Given the description of an element on the screen output the (x, y) to click on. 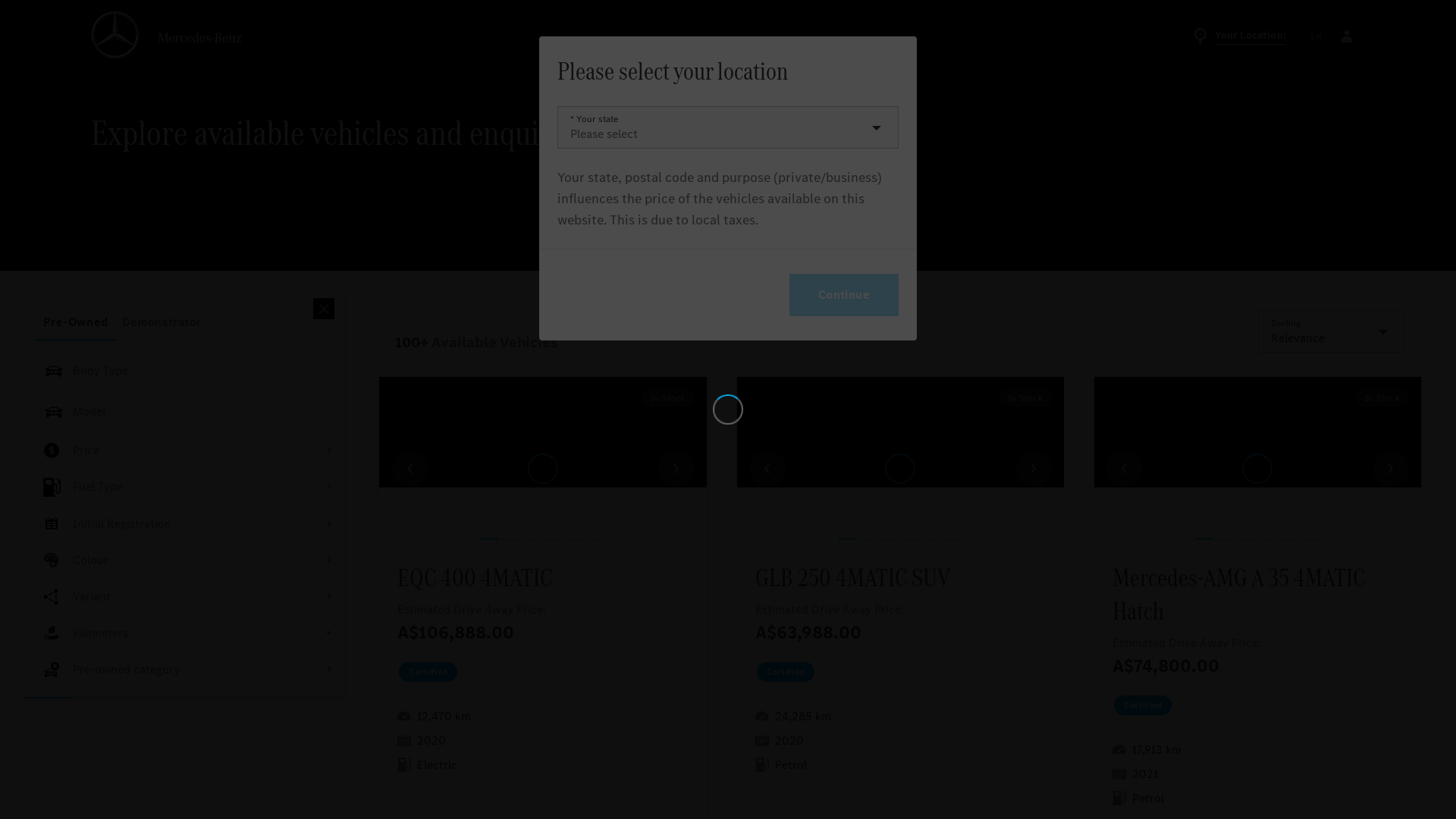
Demonstrator Element type: text (161, 322)
Continue Element type: text (843, 294)
Your Location: Element type: text (1239, 36)
Pre-Owned Element type: text (75, 322)
EN Element type: text (1316, 36)
